Given the description of an element on the screen output the (x, y) to click on. 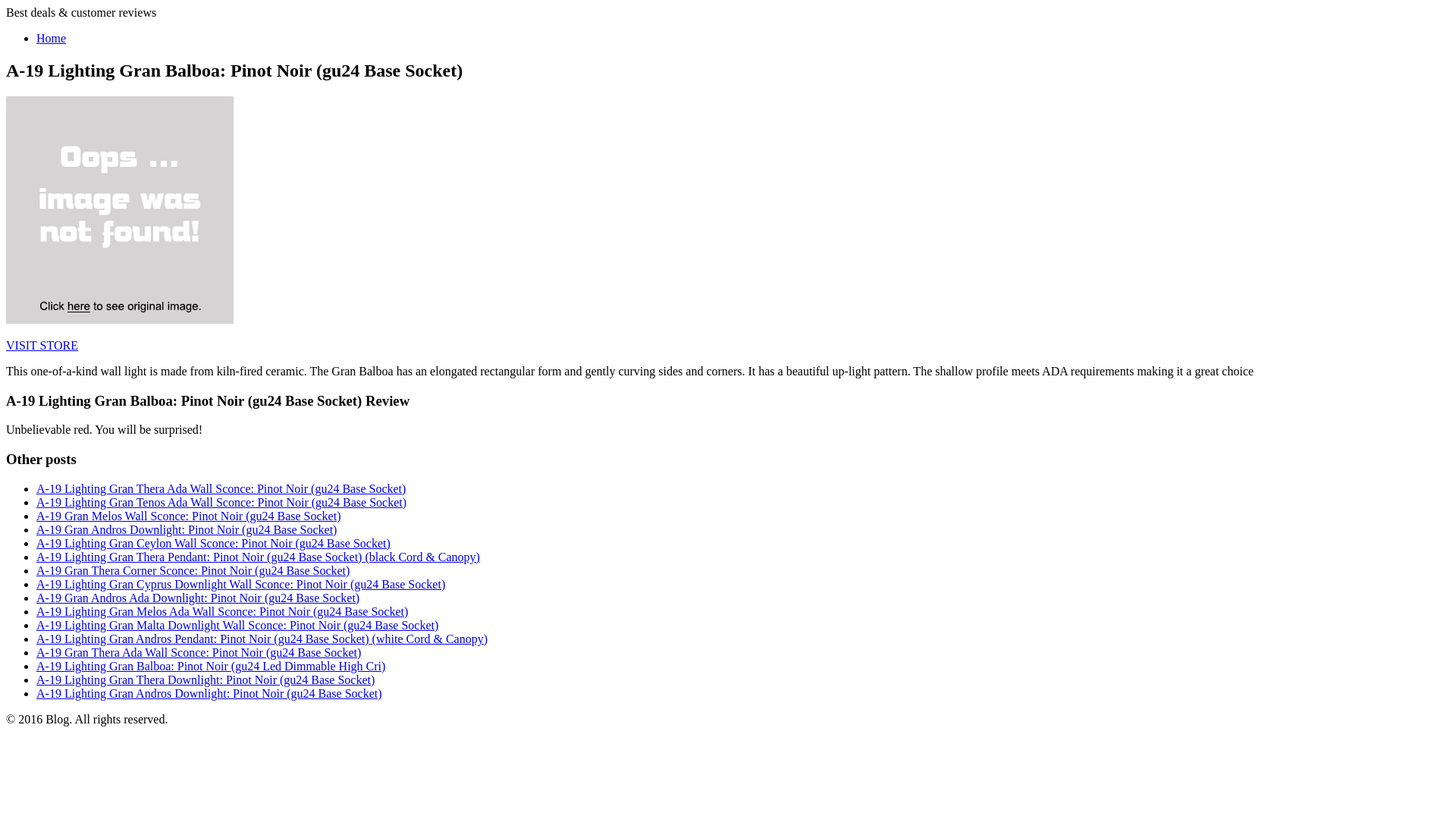
VISIT STORE (41, 345)
Home (50, 38)
